Given the description of an element on the screen output the (x, y) to click on. 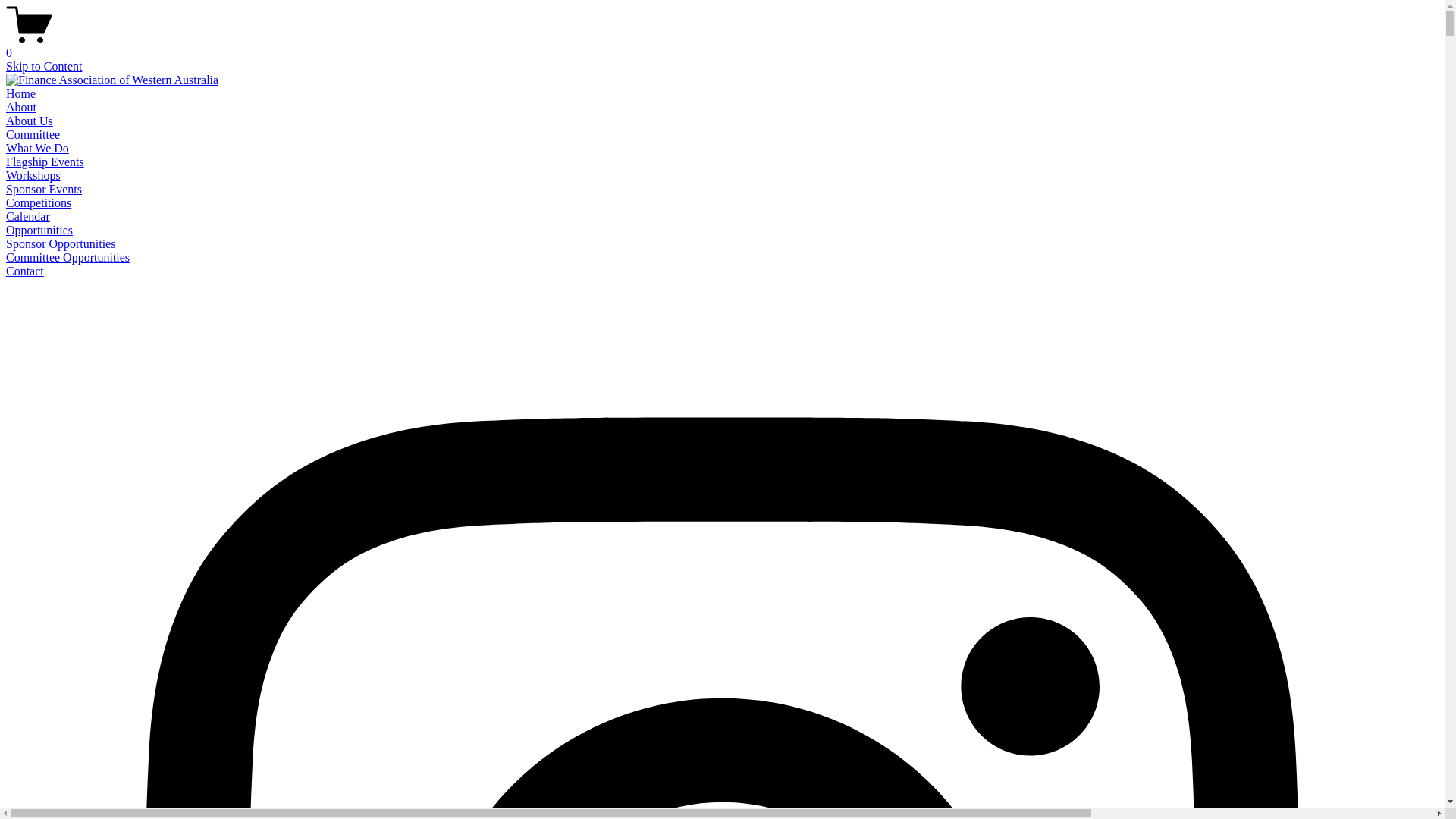
Home Element type: text (20, 93)
Workshops Element type: text (33, 175)
Skip to Content Element type: text (43, 65)
About Us Element type: text (29, 120)
Committee Opportunities Element type: text (67, 257)
About Element type: text (21, 106)
0 Element type: text (722, 45)
Calendar Element type: text (28, 216)
Competitions Element type: text (38, 202)
Sponsor Opportunities Element type: text (60, 243)
Contact Element type: text (24, 270)
What We Do Element type: text (37, 147)
Committee Element type: text (32, 134)
Sponsor Events Element type: text (43, 188)
Flagship Events Element type: text (45, 161)
Opportunities Element type: text (39, 229)
